Given the description of an element on the screen output the (x, y) to click on. 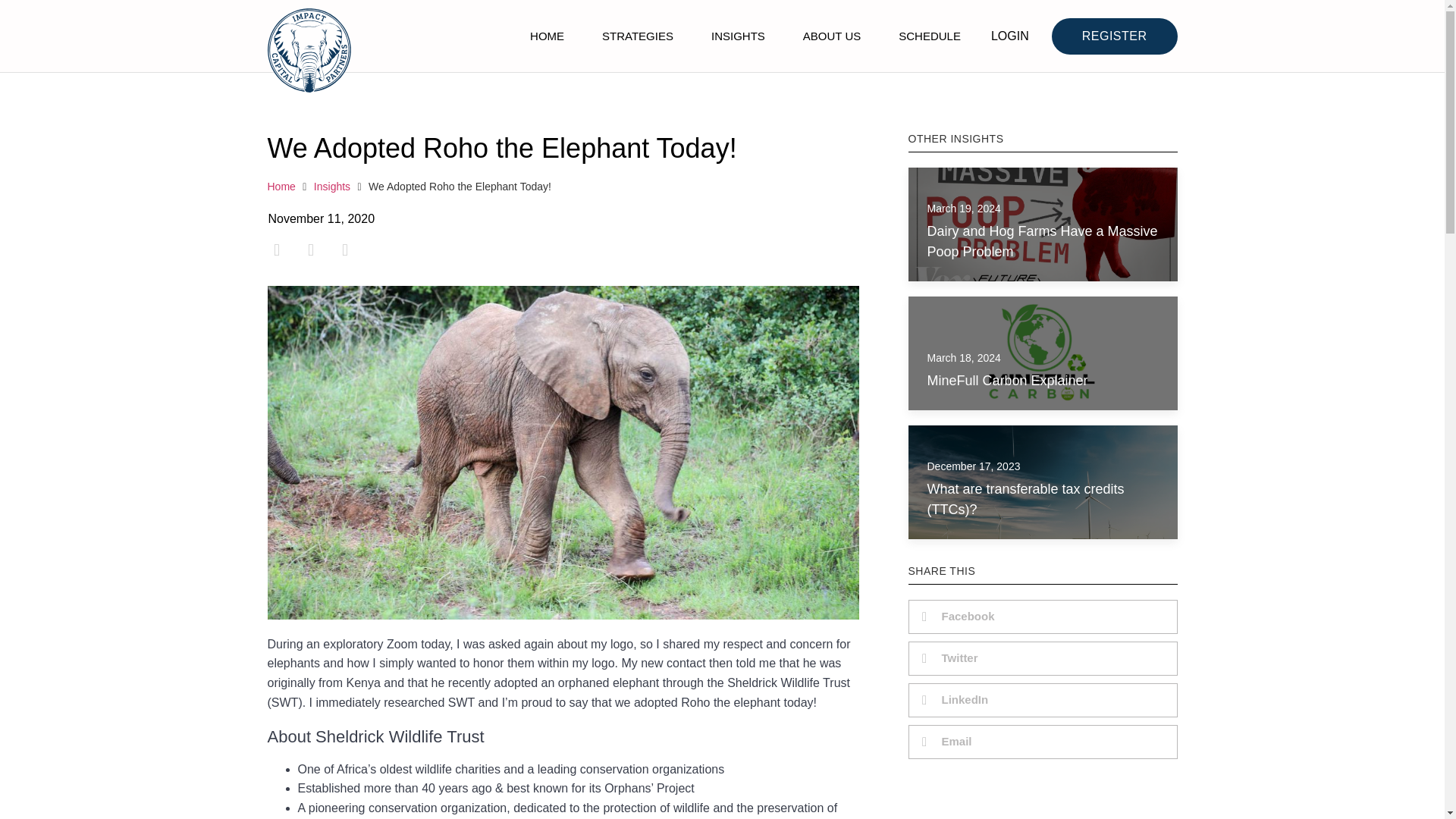
ABOUT US (831, 35)
Home (280, 186)
INSIGHTS (976, 138)
HOME (546, 35)
Home (280, 186)
SCHEDULE (929, 35)
Insights (332, 186)
Insights (332, 186)
STRATEGIES (637, 35)
REGISTER (1114, 36)
LOGIN (1019, 36)
INSIGHTS (738, 35)
